Given the description of an element on the screen output the (x, y) to click on. 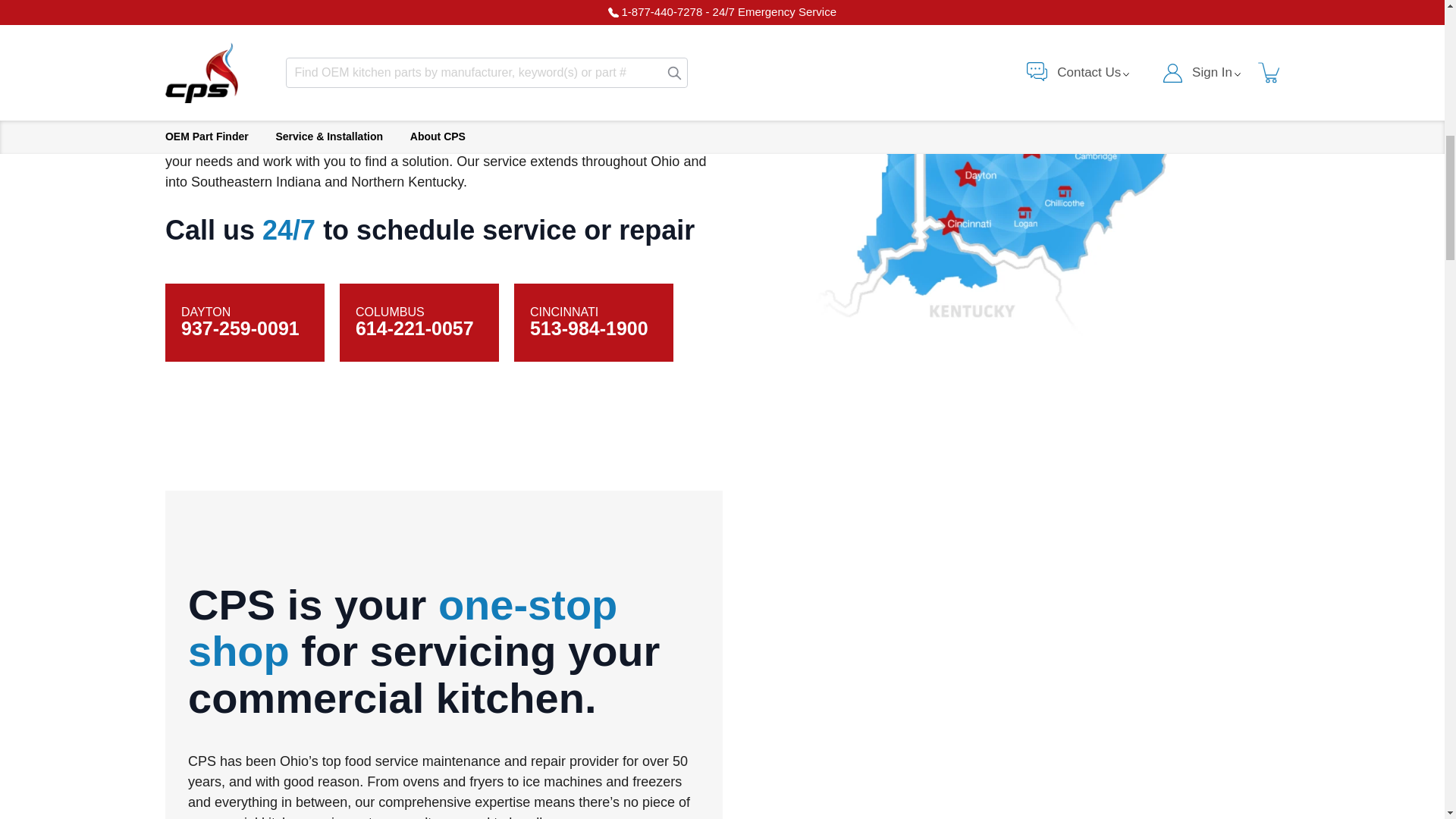
Call Columbus (414, 328)
Call Cincinnati (588, 328)
Call Dayton (239, 328)
